Given the description of an element on the screen output the (x, y) to click on. 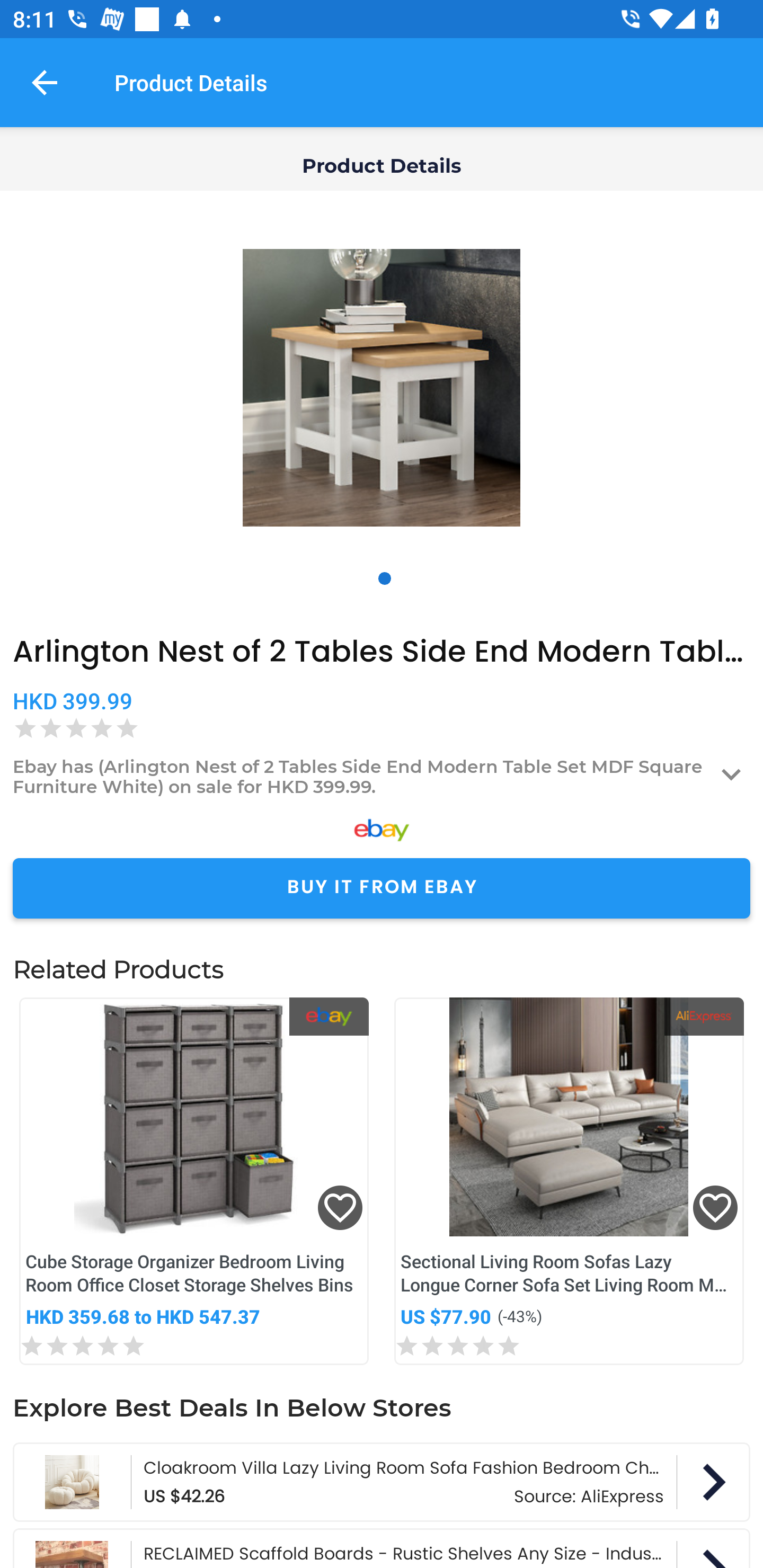
Navigate up (44, 82)
BUY IT FROM EBAY (381, 888)
